Given the description of an element on the screen output the (x, y) to click on. 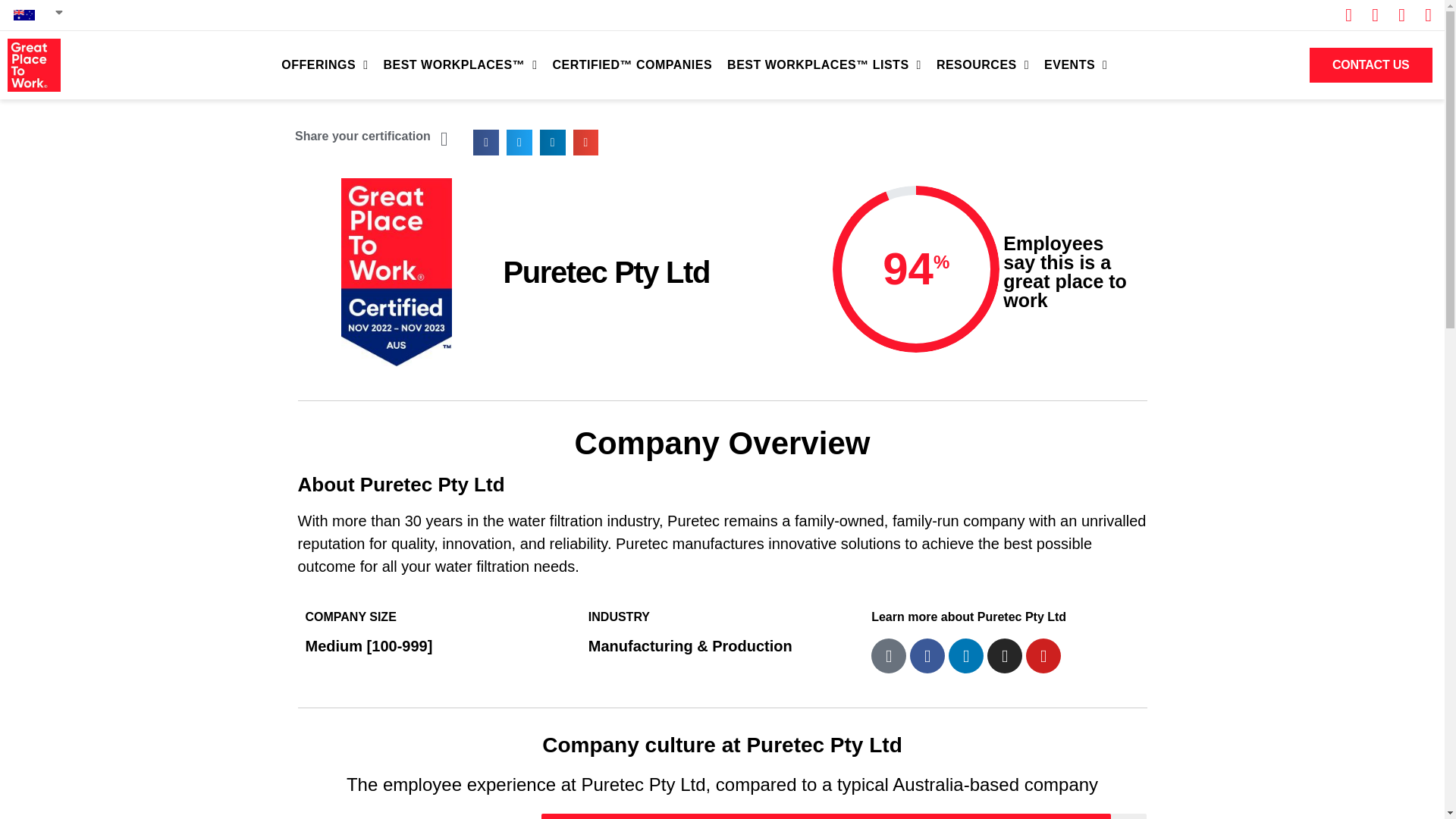
RESOURCES (982, 64)
OFFERINGS (324, 64)
List Item (1422, 14)
